Given the description of an element on the screen output the (x, y) to click on. 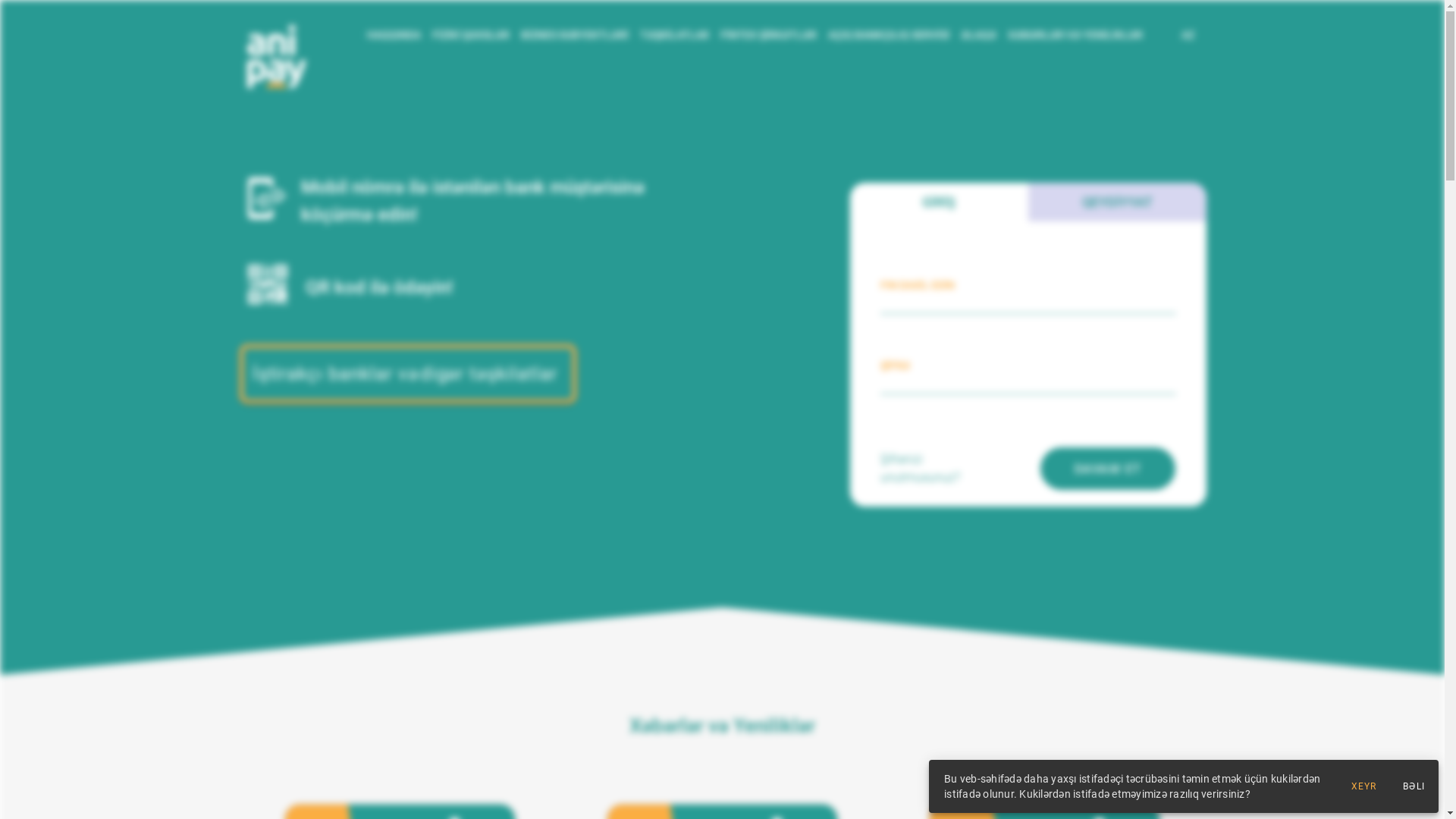
DAVAM ET Element type: text (1107, 468)
XEYR Element type: text (1363, 786)
